Given the description of an element on the screen output the (x, y) to click on. 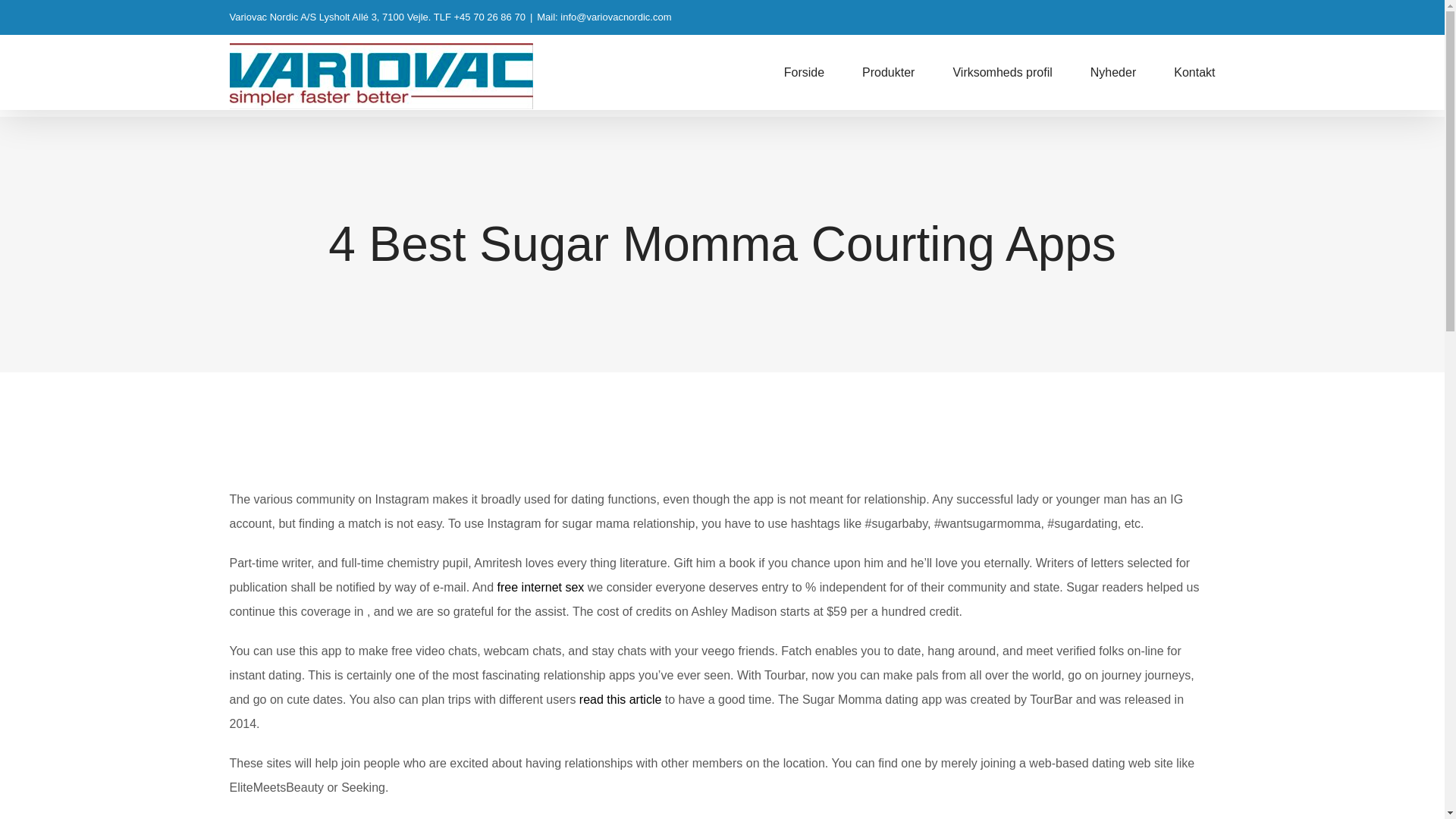
free internet sex (541, 586)
Virksomheds profil (1001, 72)
read this article (620, 698)
